Given the description of an element on the screen output the (x, y) to click on. 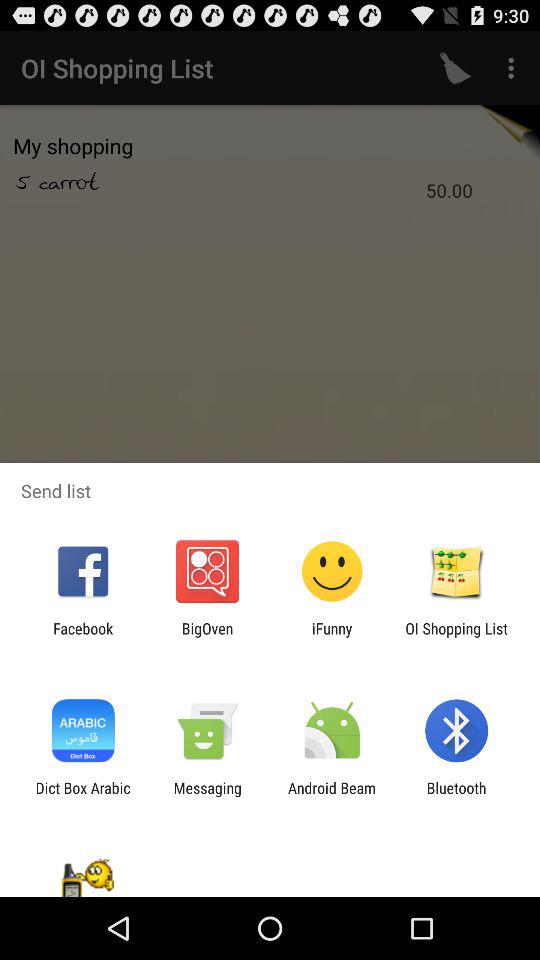
turn on the item next to messaging app (82, 796)
